Given the description of an element on the screen output the (x, y) to click on. 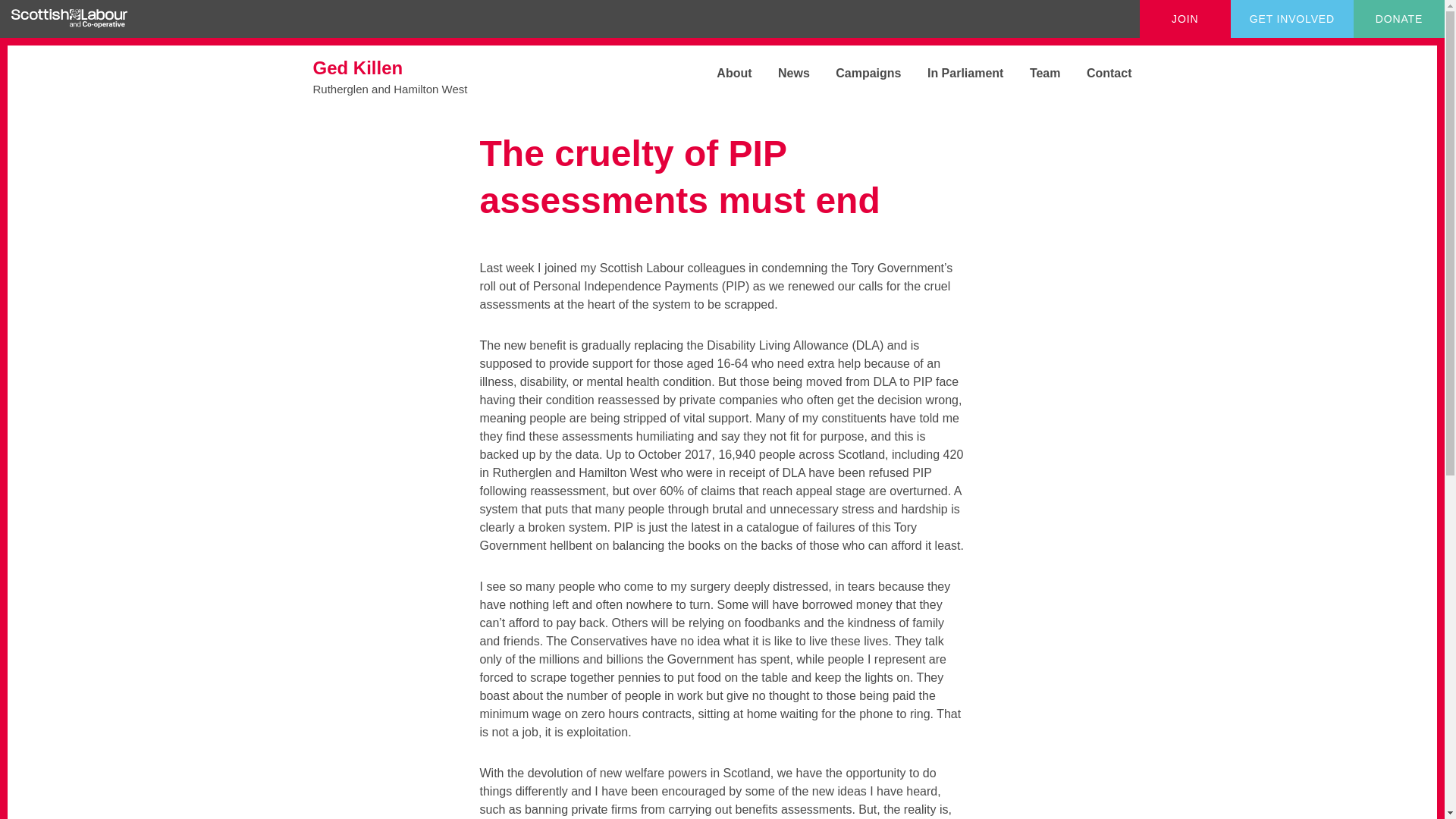
News (782, 72)
Contact (1098, 72)
Campaigns (856, 72)
GET INVOLVED (1292, 18)
In Parliament (426, 76)
Team (953, 72)
About (1034, 72)
JOIN (722, 72)
